Given the description of an element on the screen output the (x, y) to click on. 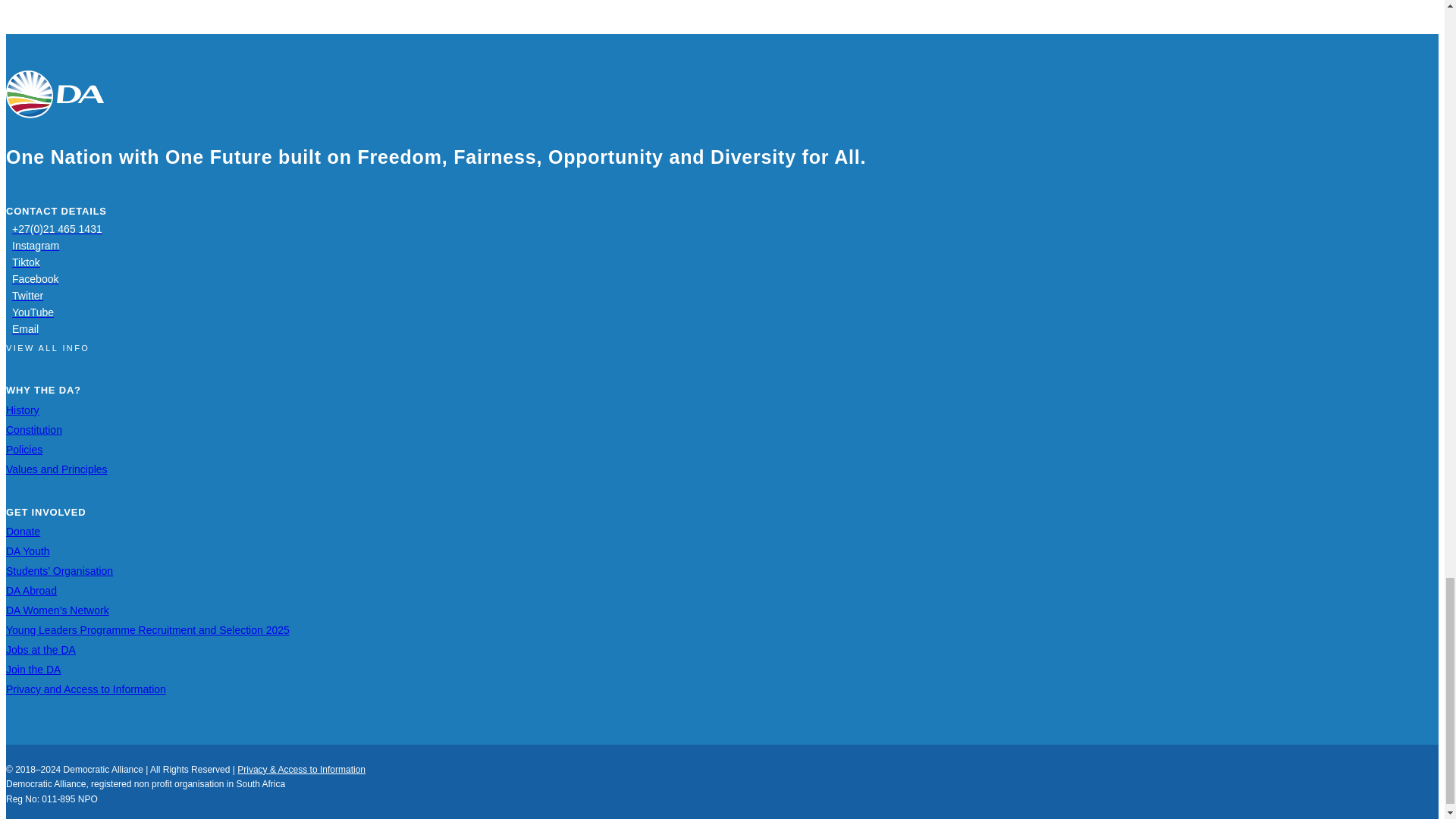
Democratic Alliance Logo (54, 93)
